Given the description of an element on the screen output the (x, y) to click on. 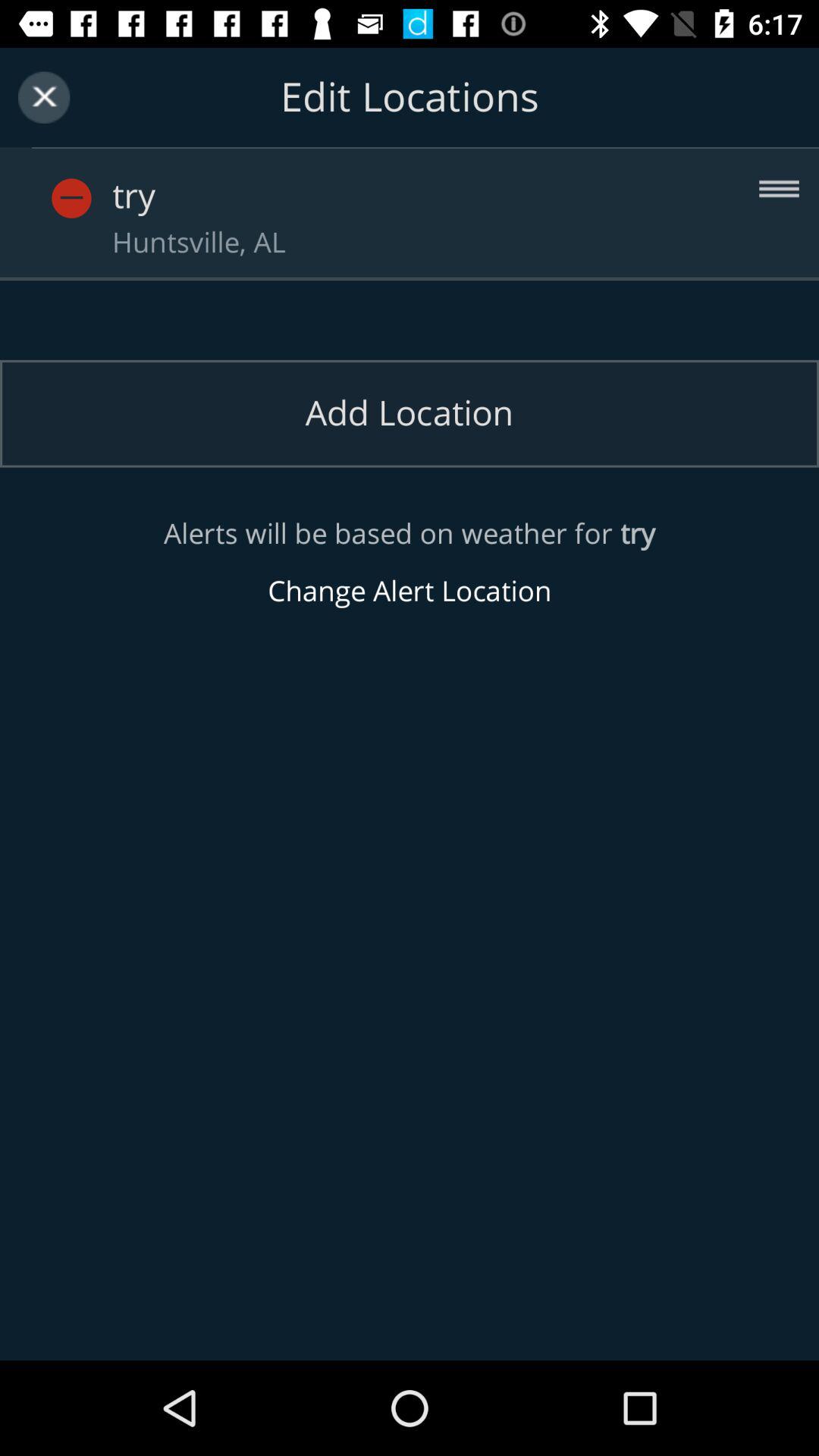
press item to the left of the edit locations (43, 97)
